Given the description of an element on the screen output the (x, y) to click on. 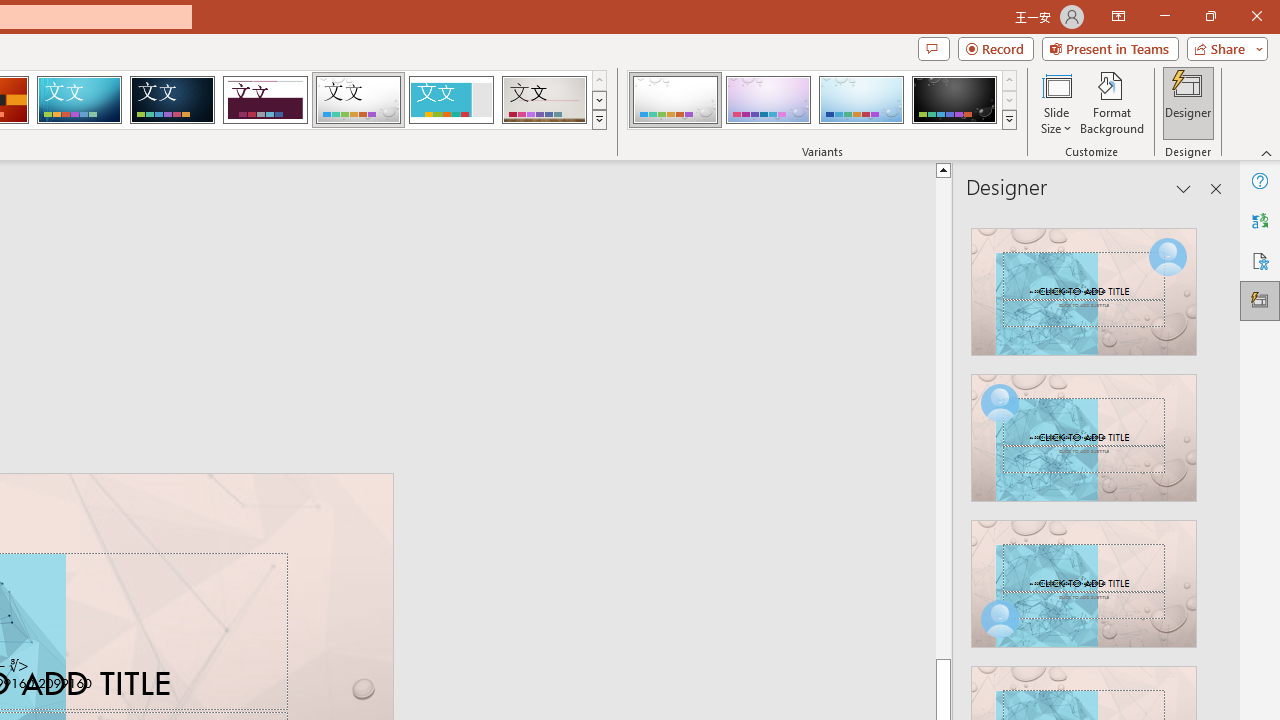
Themes (598, 120)
Dividend (265, 100)
Slide Size (1056, 102)
Droplet Variant 1 (674, 100)
Damask (171, 100)
Variants (1009, 120)
